Given the description of an element on the screen output the (x, y) to click on. 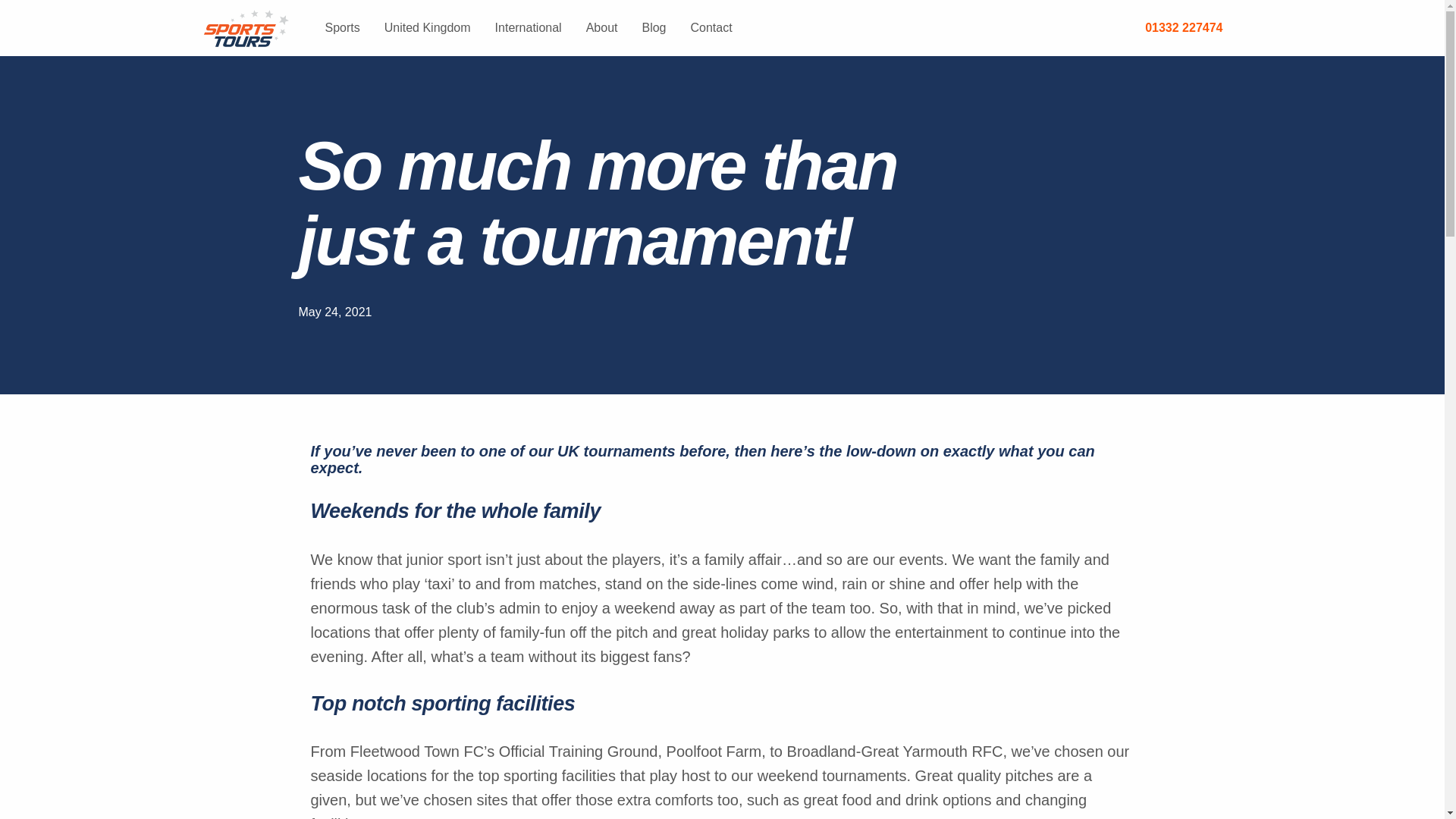
About (601, 28)
Sports (342, 28)
International (528, 28)
United Kingdom (427, 28)
